Given the description of an element on the screen output the (x, y) to click on. 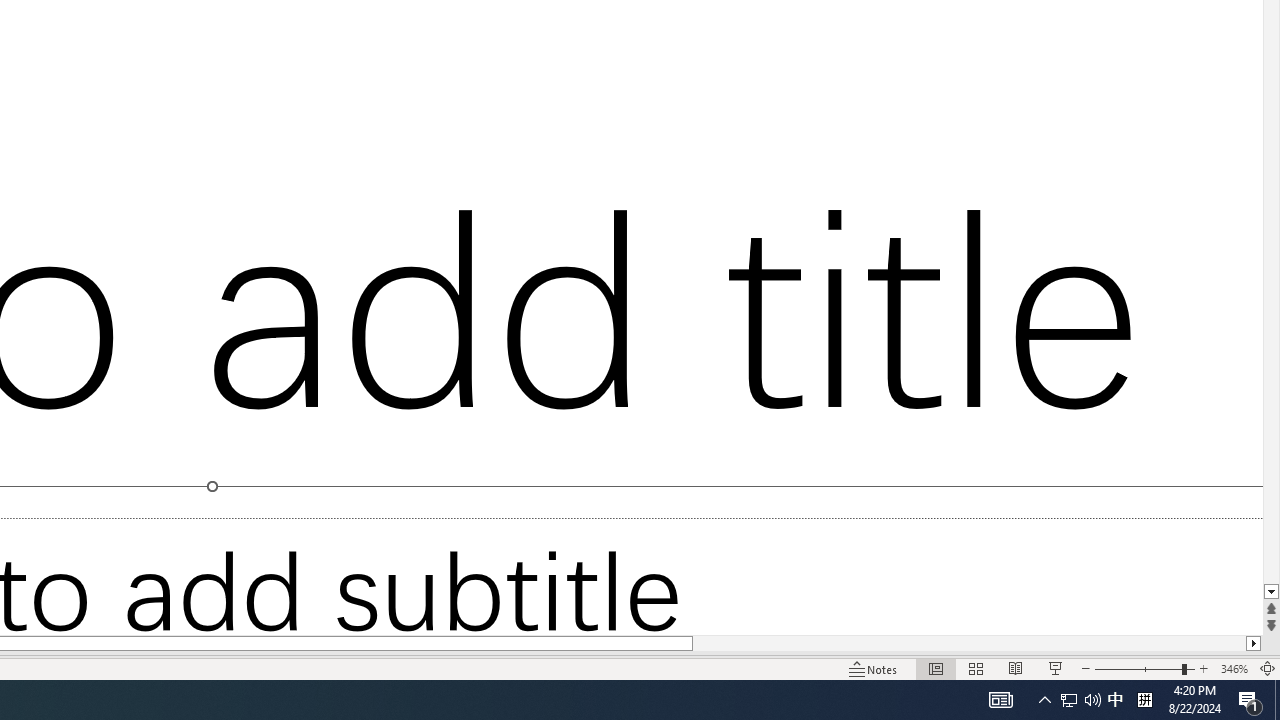
Zoom 346% (1234, 668)
